Given the description of an element on the screen output the (x, y) to click on. 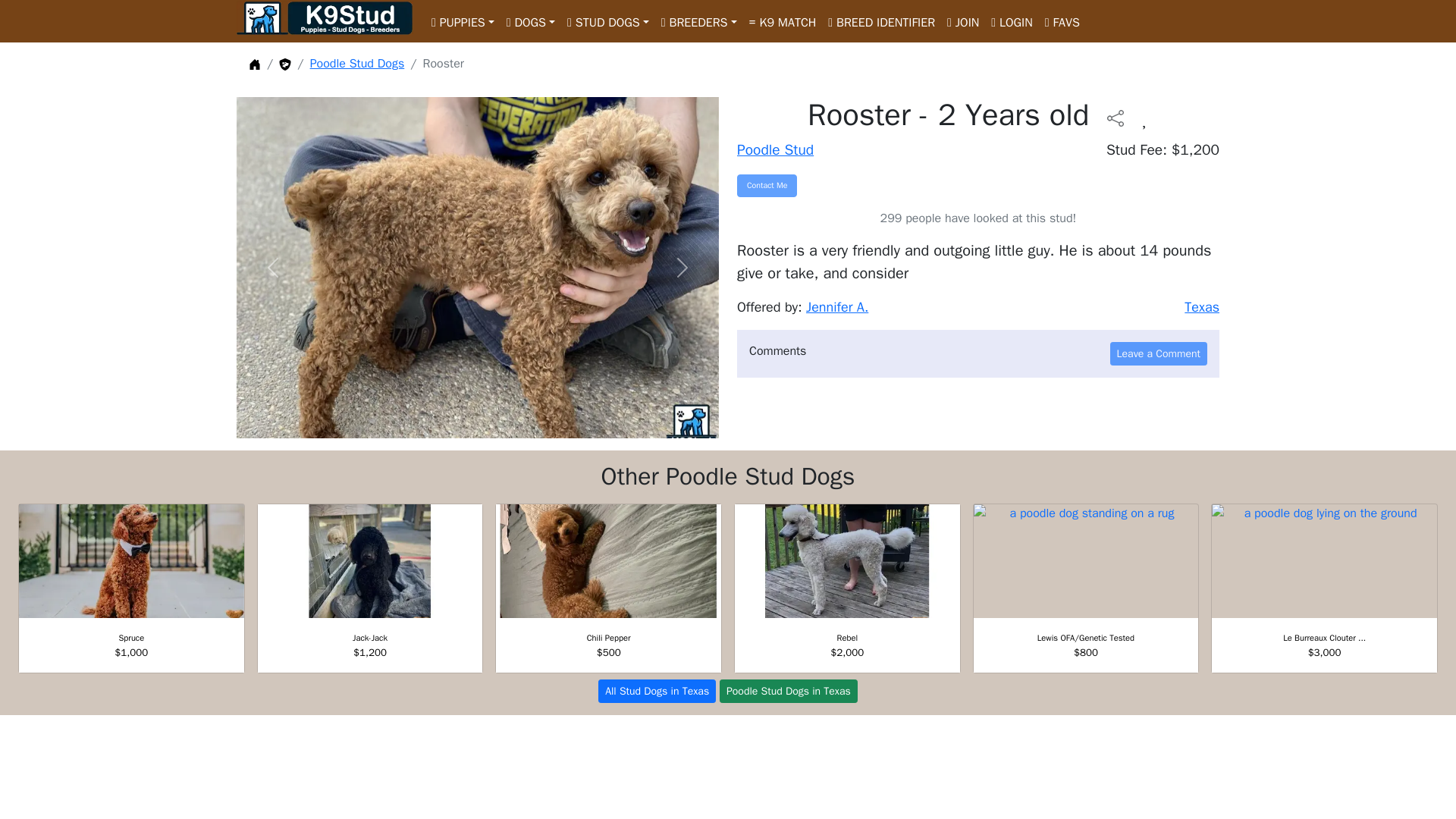
BREEDERS (698, 20)
STUD DOGS (607, 20)
Contact Me (766, 185)
JOIN (962, 20)
FAVS (1062, 20)
Contact Me (766, 185)
DOGS (530, 20)
Jennifer A. (836, 306)
Share (1114, 117)
Texas (1202, 306)
